Given the description of an element on the screen output the (x, y) to click on. 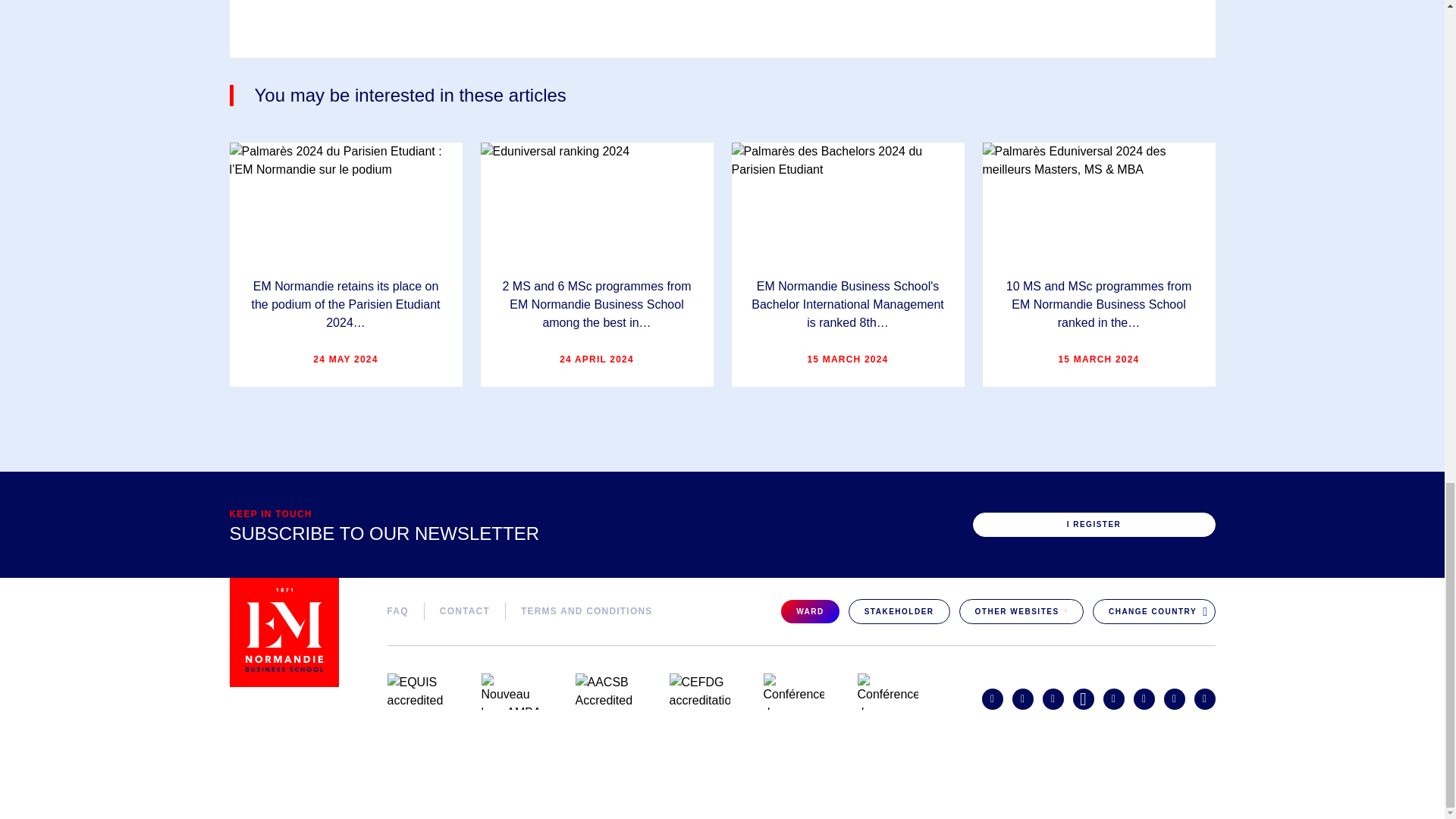
EQUIS accredited (416, 691)
AACSB Accredited (604, 691)
Eduniversal ranking 2024 (596, 200)
CEFDG accreditation (698, 691)
Nouveau logo AMBA texte noir (510, 691)
